Given the description of an element on the screen output the (x, y) to click on. 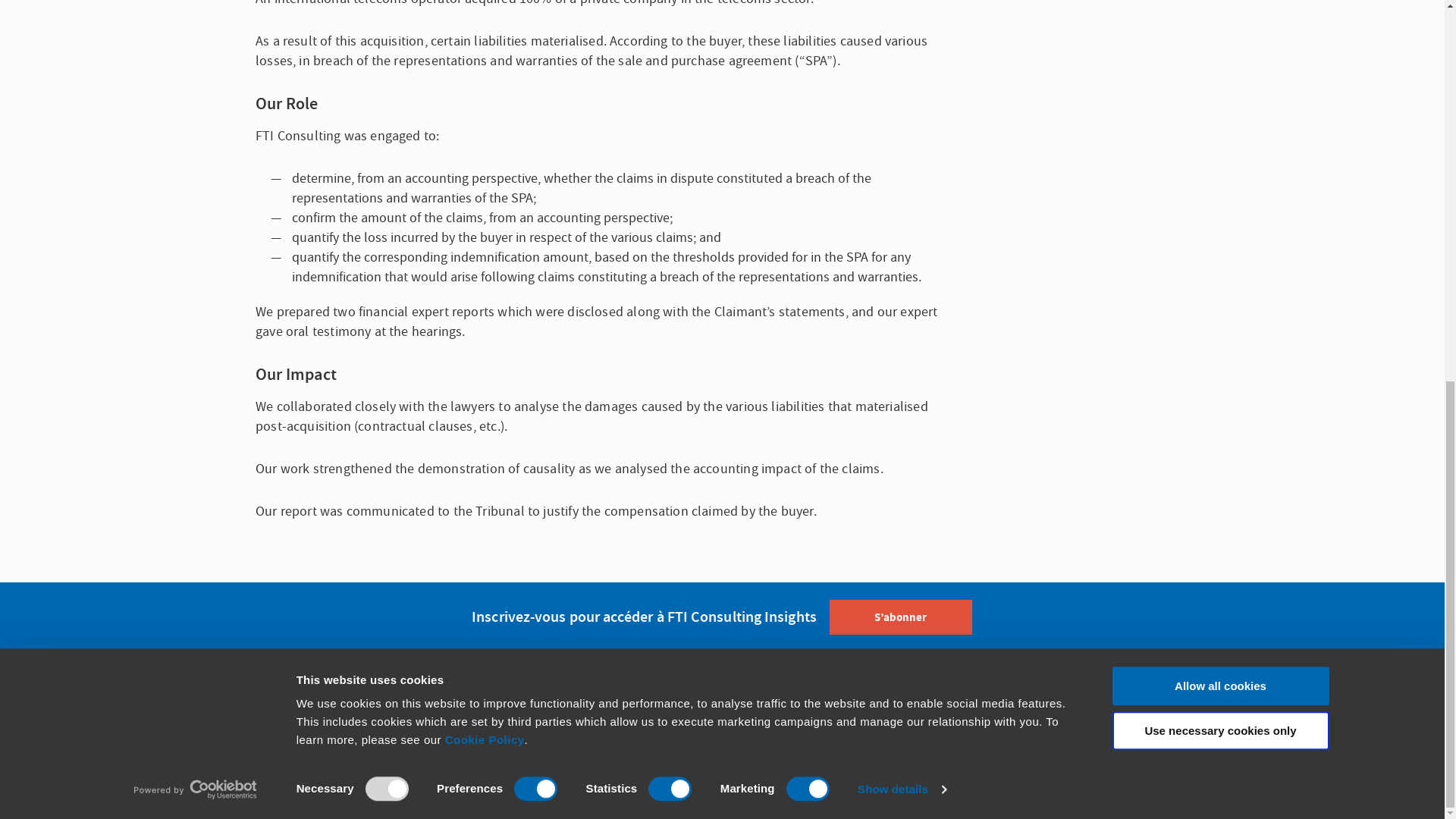
Cookie Policy (484, 27)
Show details (900, 77)
